Given the description of an element on the screen output the (x, y) to click on. 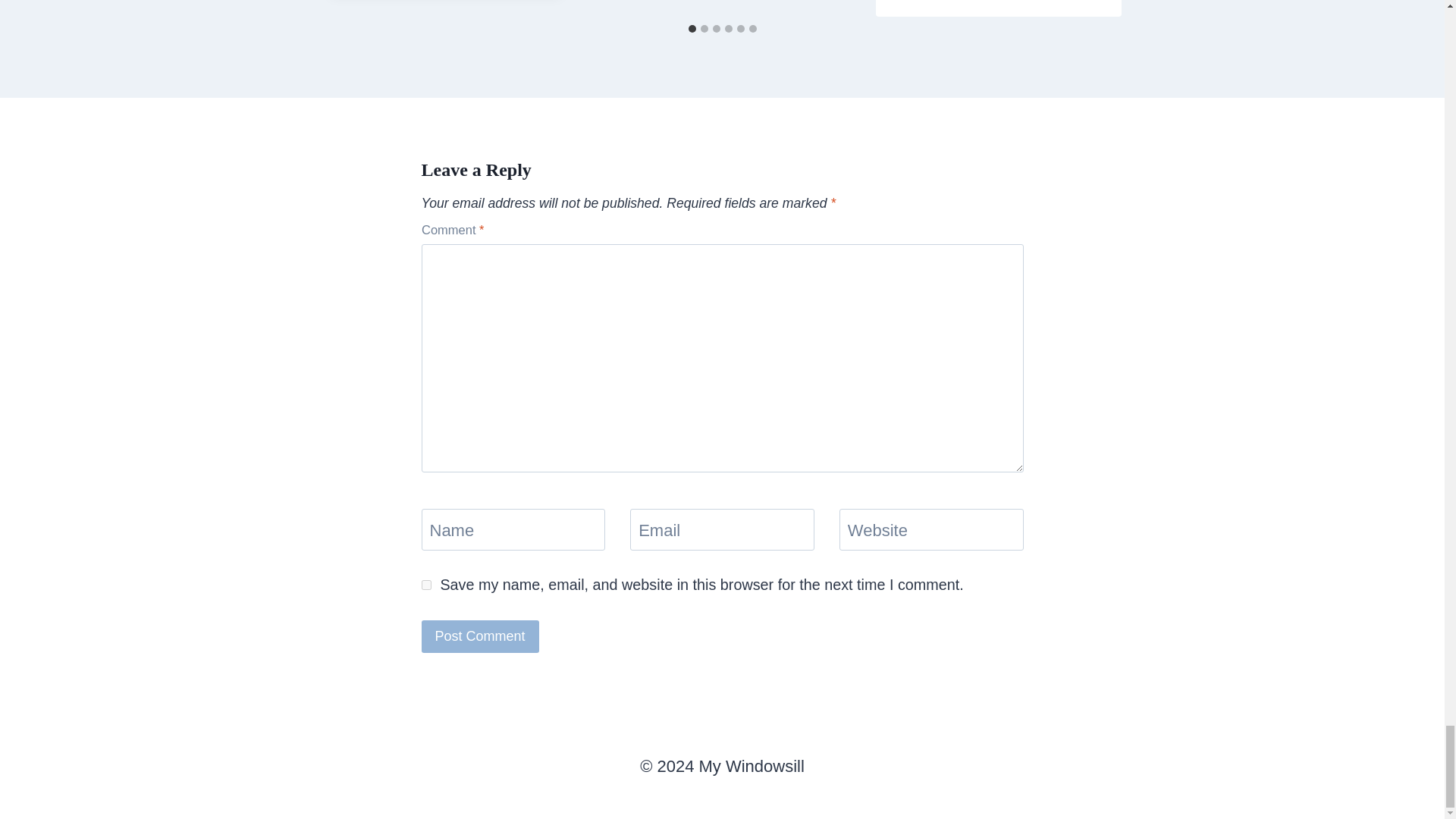
Post Comment (480, 635)
yes (426, 584)
